Given the description of an element on the screen output the (x, y) to click on. 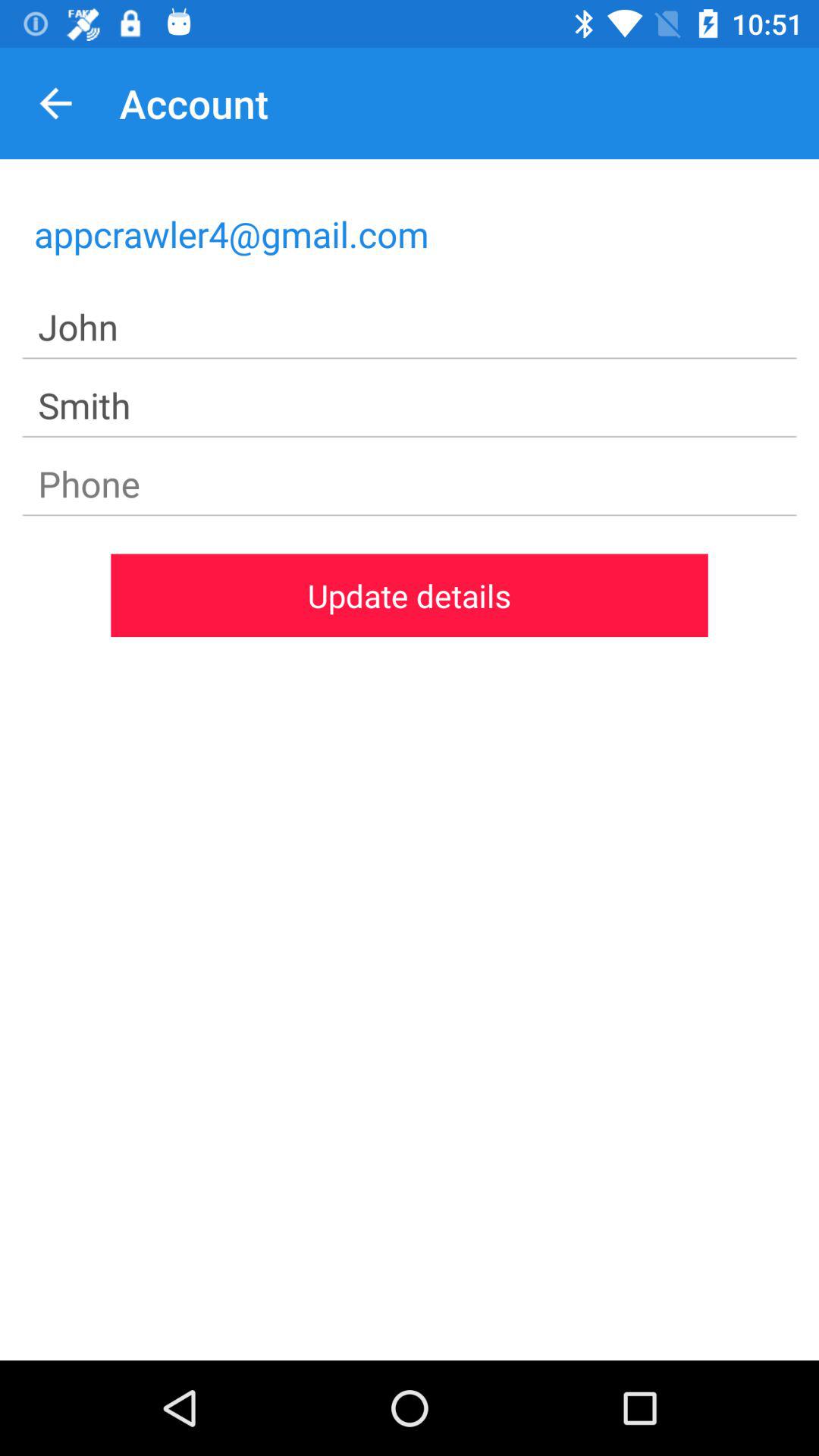
turn off item above update details (409, 484)
